Given the description of an element on the screen output the (x, y) to click on. 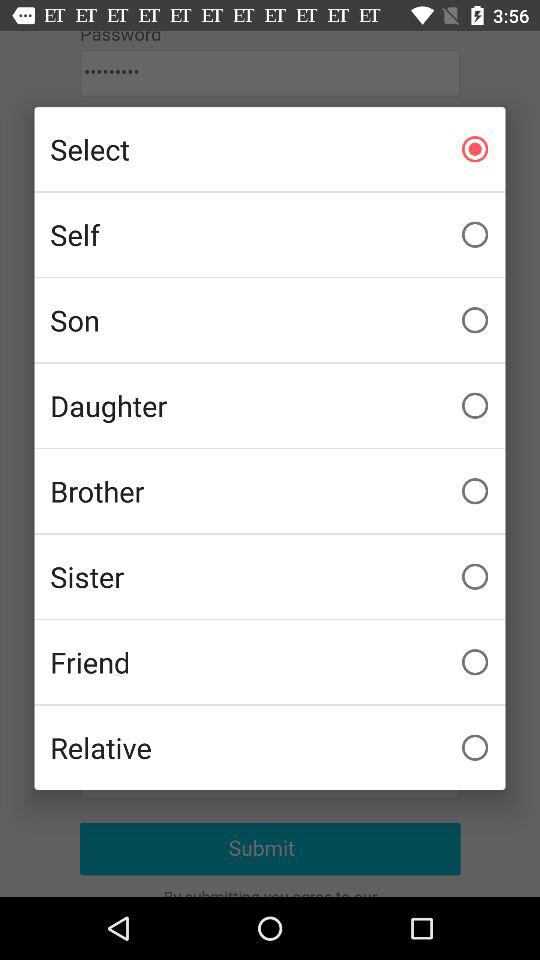
turn on daughter icon (269, 405)
